Given the description of an element on the screen output the (x, y) to click on. 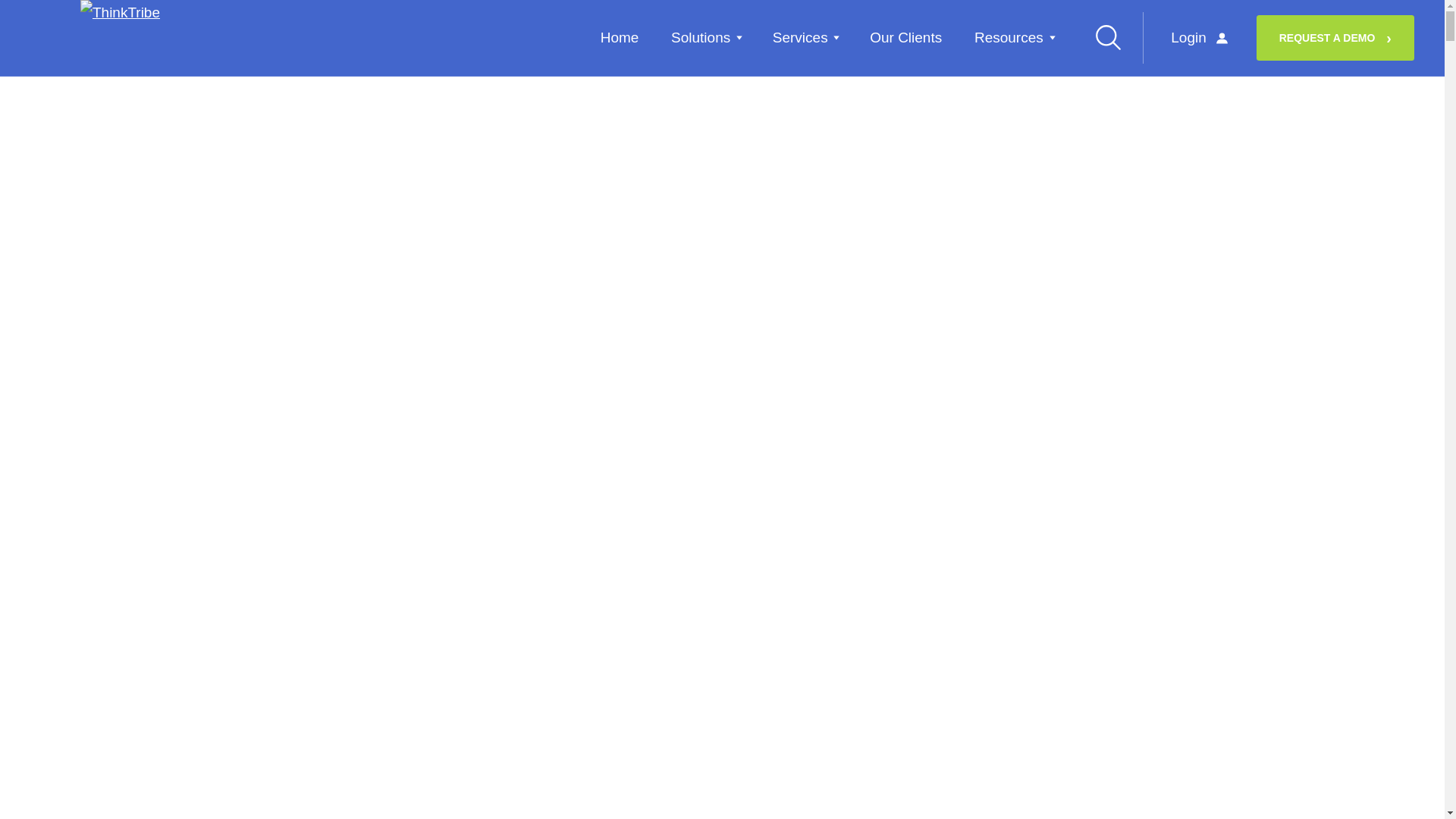
Services (804, 37)
Search (1107, 37)
REQUEST A DEMO (1334, 37)
Skip to content (40, 10)
Login (1199, 38)
Solutions (705, 37)
Our Clients (906, 37)
Resources (1012, 37)
Home (619, 37)
